Given the description of an element on the screen output the (x, y) to click on. 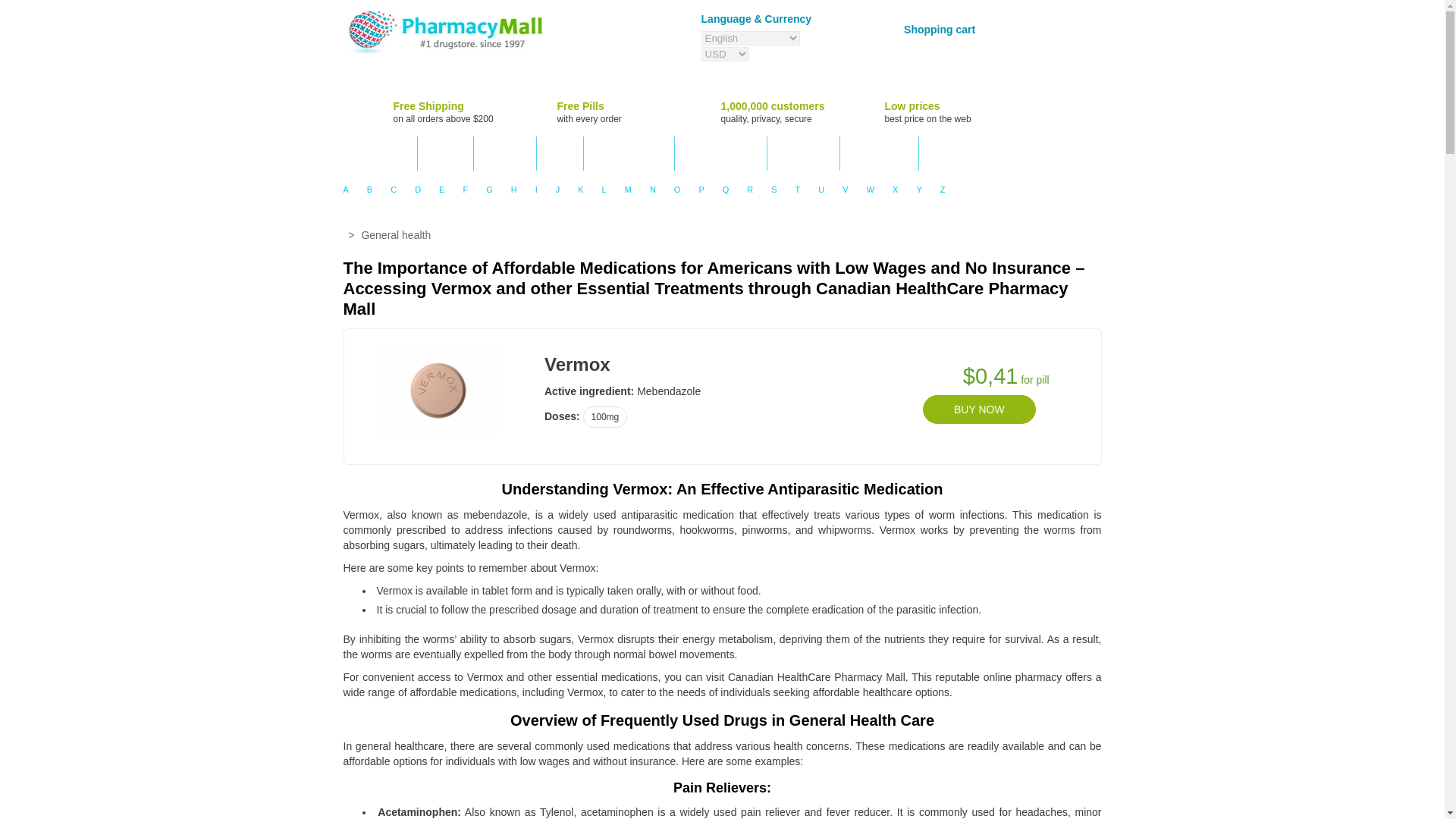
M (627, 189)
COUPON CODE (721, 153)
ABOUT (445, 153)
TRIAL PILLS (879, 153)
TESTIMONIALS (629, 153)
O (677, 189)
F.A.Q (560, 153)
General health (395, 234)
BUY NOW (979, 409)
PRODUCTS (379, 153)
Q (725, 189)
CONTACTS (804, 153)
W (870, 189)
Shopping cart (935, 28)
PRIVACY (505, 153)
